Given the description of an element on the screen output the (x, y) to click on. 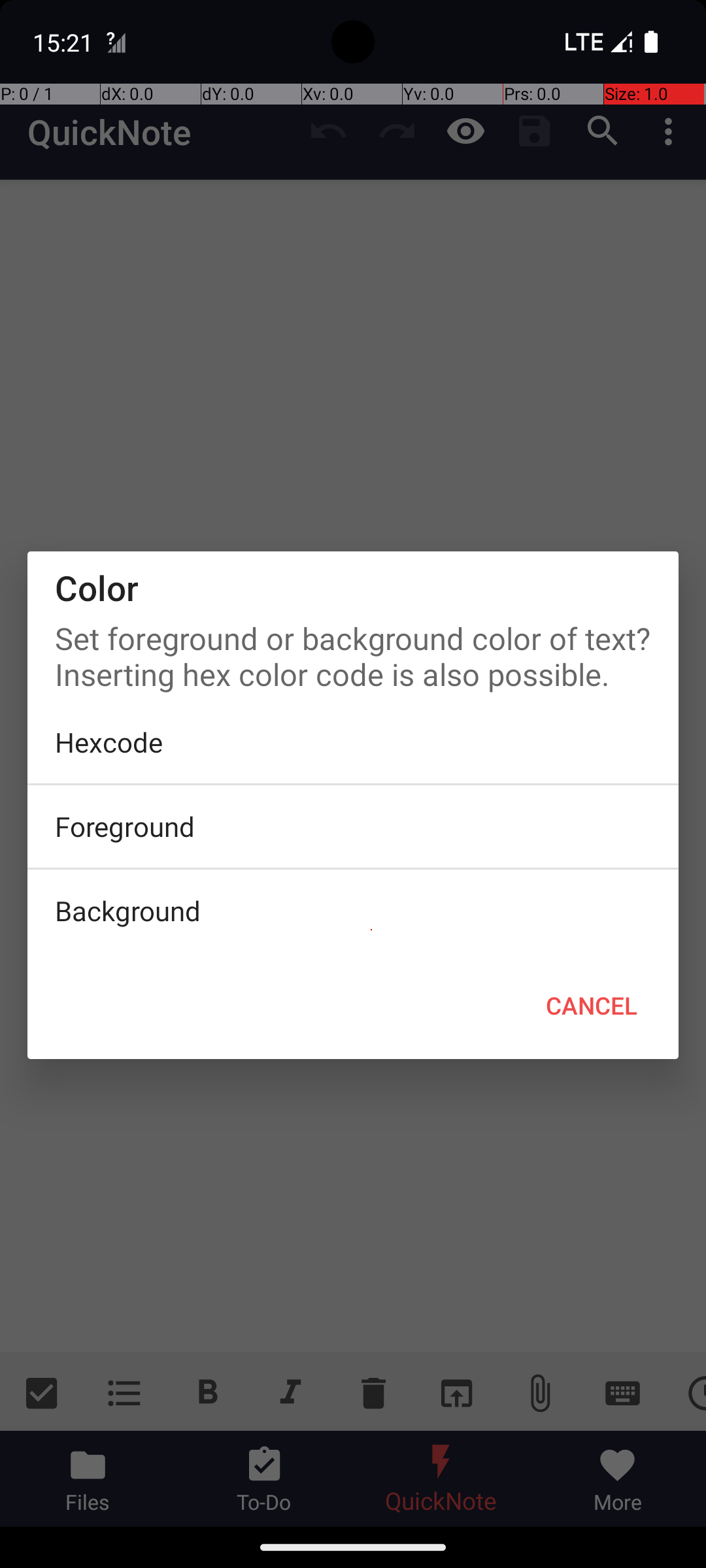
Set foreground or background color of text? Inserting hex color code is also possible. Element type: android.widget.TextView (352, 652)
Hexcode Element type: android.widget.TextView (352, 742)
Foreground Element type: android.widget.TextView (352, 826)
Background Element type: android.widget.TextView (352, 910)
15:21 Element type: android.widget.TextView (64, 41)
